Given the description of an element on the screen output the (x, y) to click on. 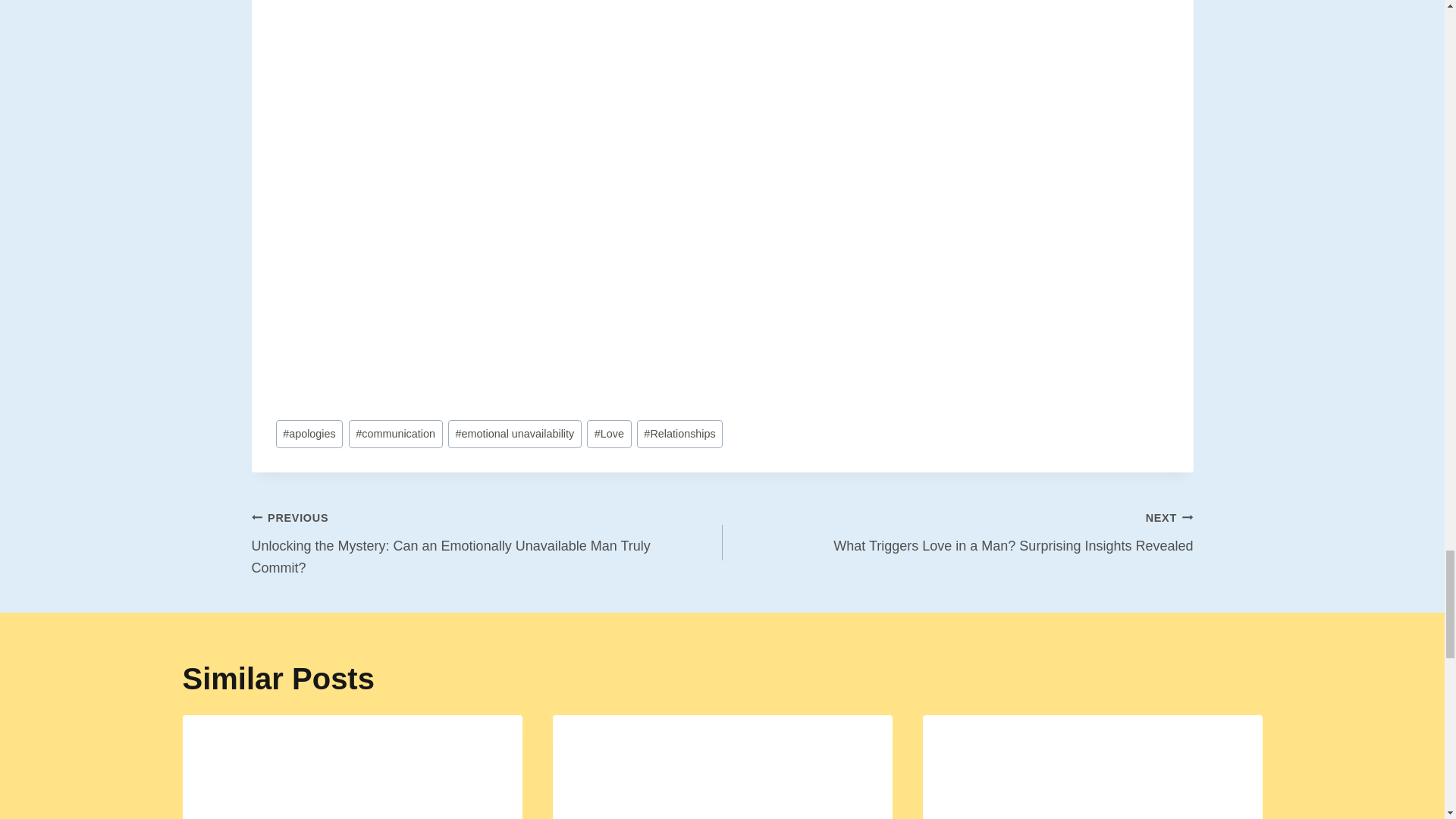
communication (395, 433)
apologies (309, 433)
Love (608, 433)
emotional unavailability (514, 433)
Relationships (680, 433)
